Given the description of an element on the screen output the (x, y) to click on. 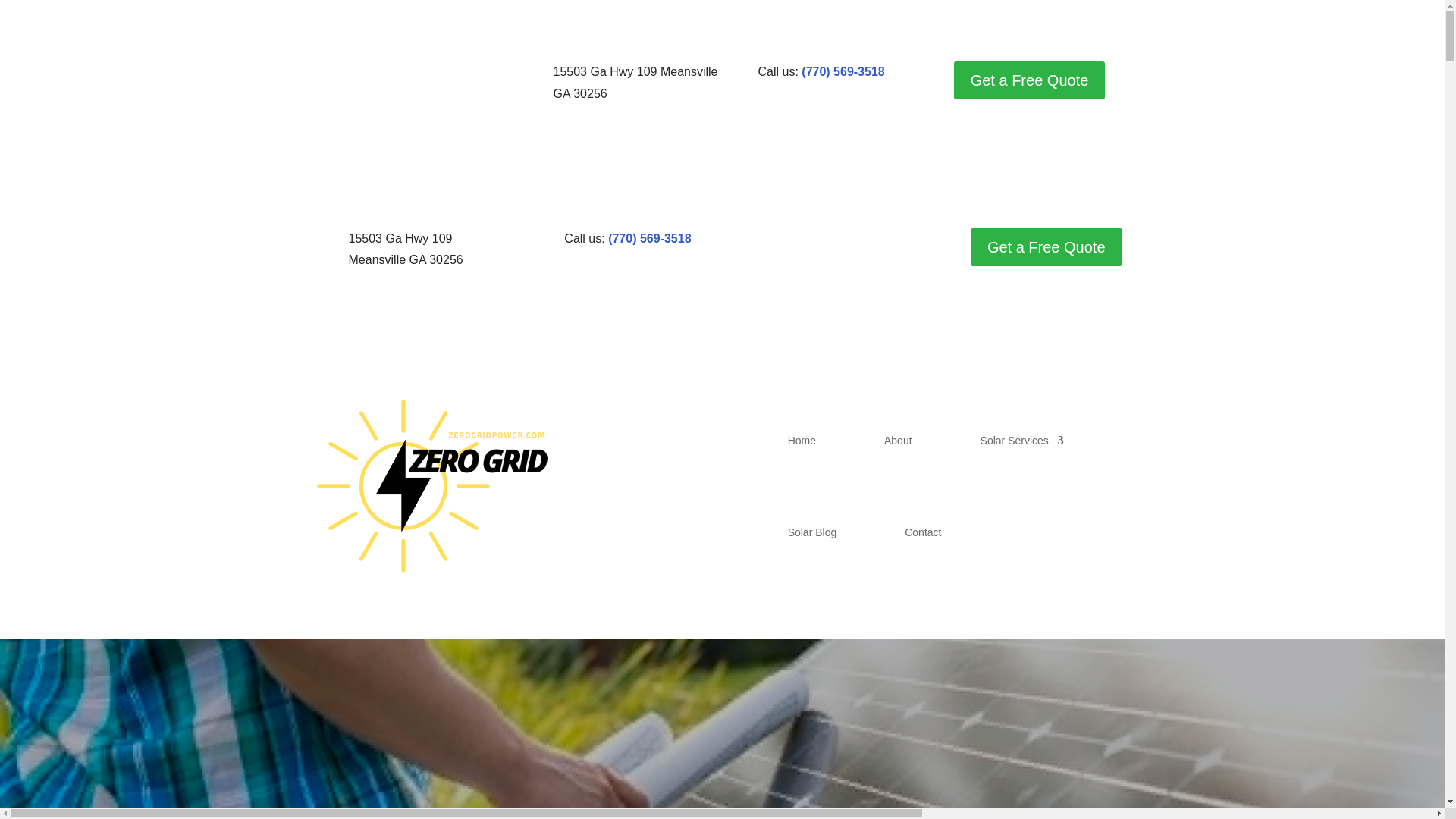
Solar Services (1021, 439)
Follow on LinkedIn (847, 240)
Follow on Instagram (817, 240)
Follow on Instagram (384, 73)
Follow on X (354, 73)
Follow on LinkedIn (415, 73)
Follow on Facebook (756, 240)
Follow on X (786, 240)
Follow on Facebook (324, 73)
Get a Free Quote (1046, 247)
